Given the description of an element on the screen output the (x, y) to click on. 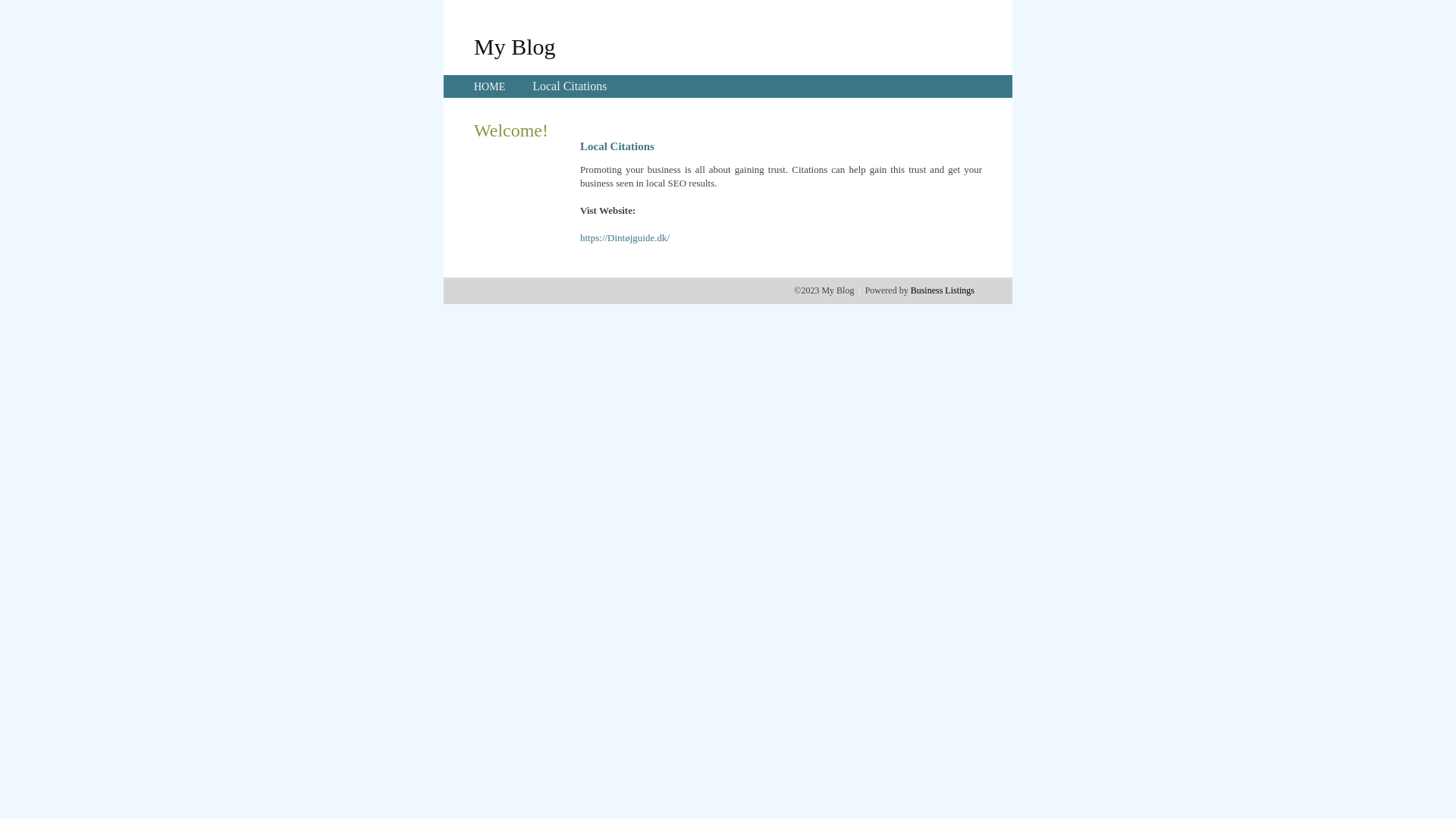
Local Citations Element type: text (569, 85)
HOME Element type: text (489, 86)
Business Listings Element type: text (942, 290)
My Blog Element type: text (514, 46)
